Given the description of an element on the screen output the (x, y) to click on. 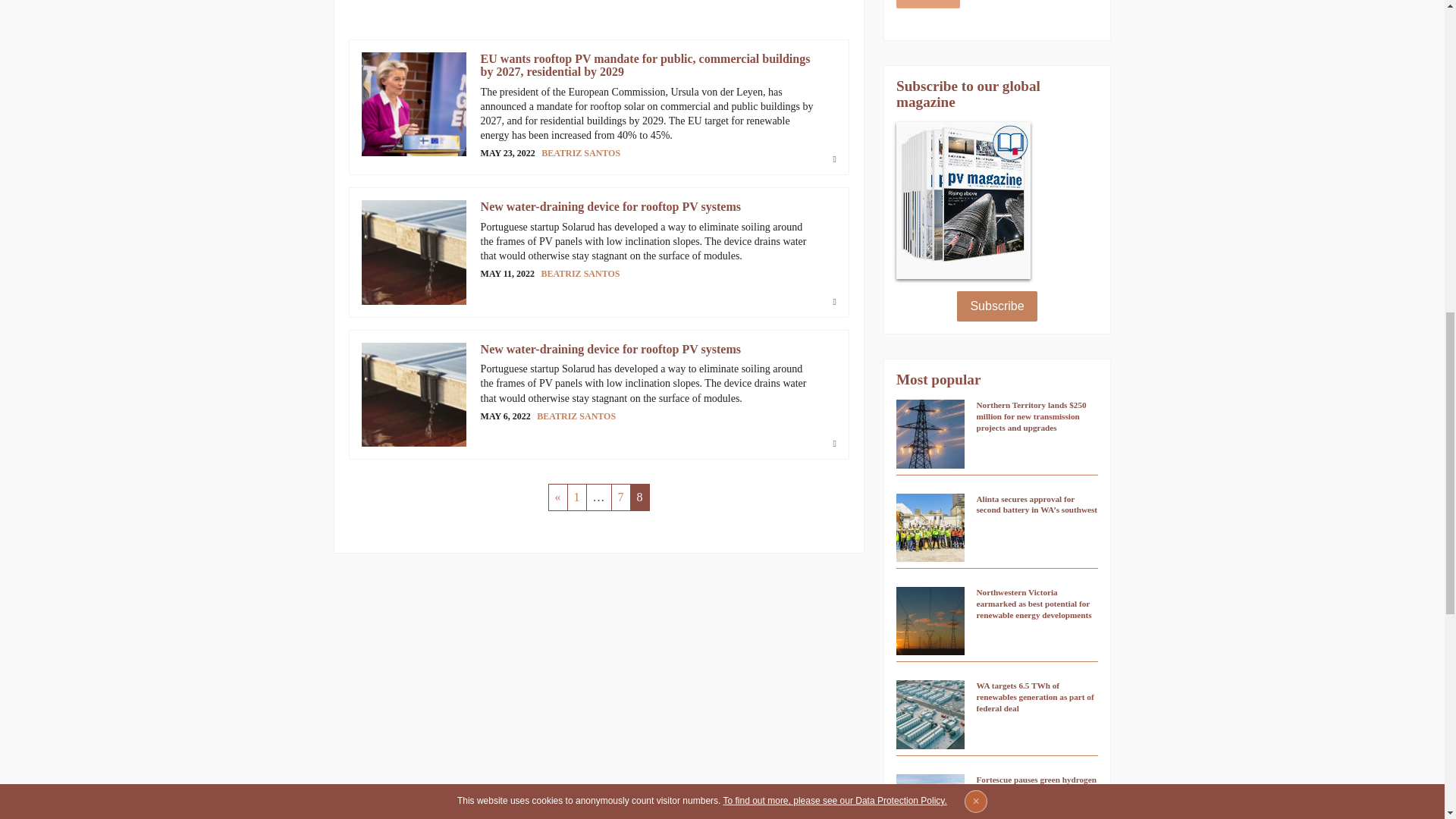
Wednesday, May 11, 2022, 7:43 am (507, 273)
Monday, May 23, 2022, 7:20 am (507, 153)
Posts by Beatriz Santos (580, 273)
Friday, May 6, 2022, 8:43 am (505, 416)
Submit (927, 4)
Posts by Beatriz Santos (580, 153)
Posts by Beatriz Santos (576, 416)
